Given the description of an element on the screen output the (x, y) to click on. 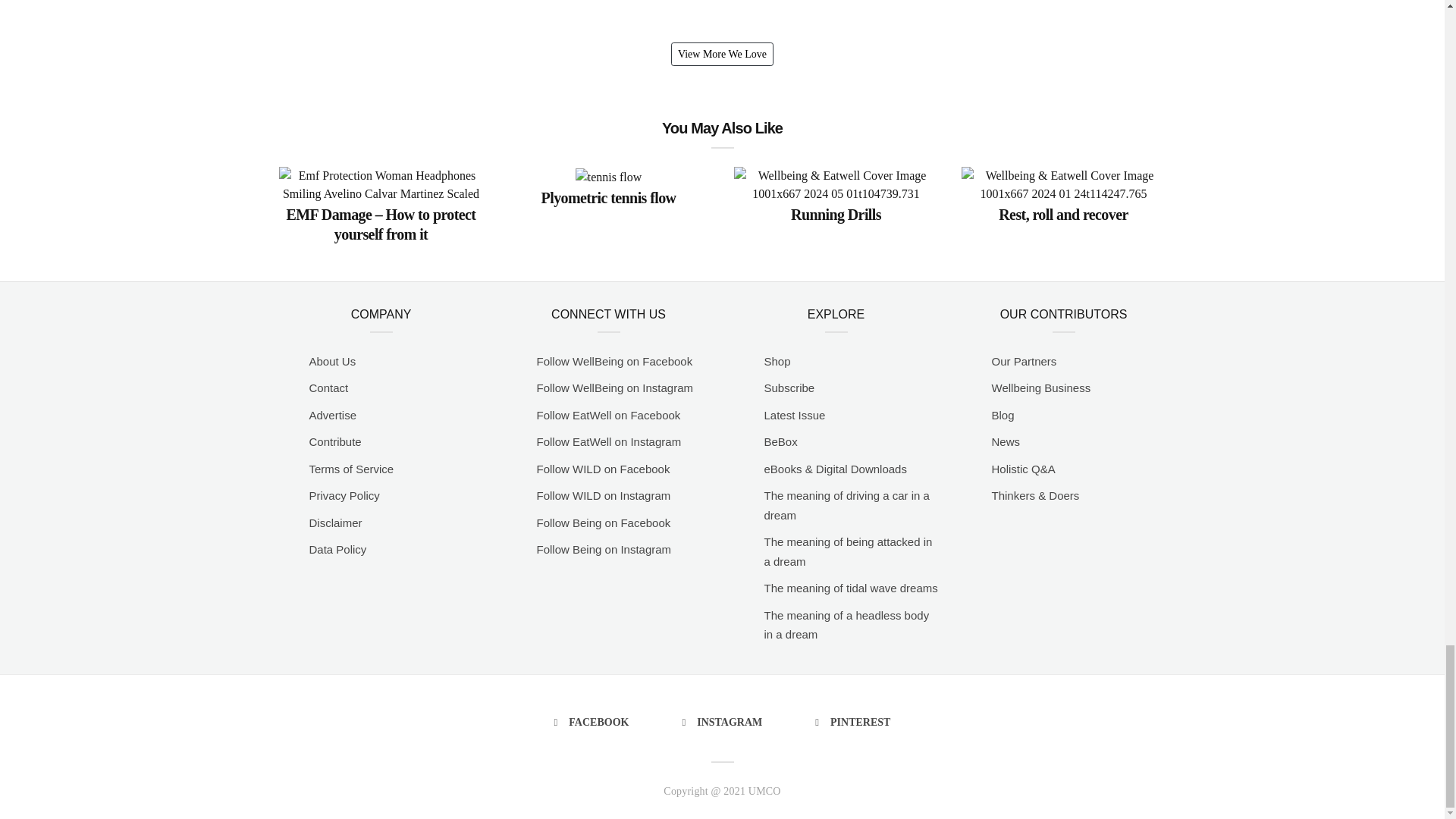
View More We Love (722, 54)
Rest, roll and recover (1062, 212)
Plyometric tennis flow (609, 195)
Running Drills (835, 212)
About Us (395, 361)
